Given the description of an element on the screen output the (x, y) to click on. 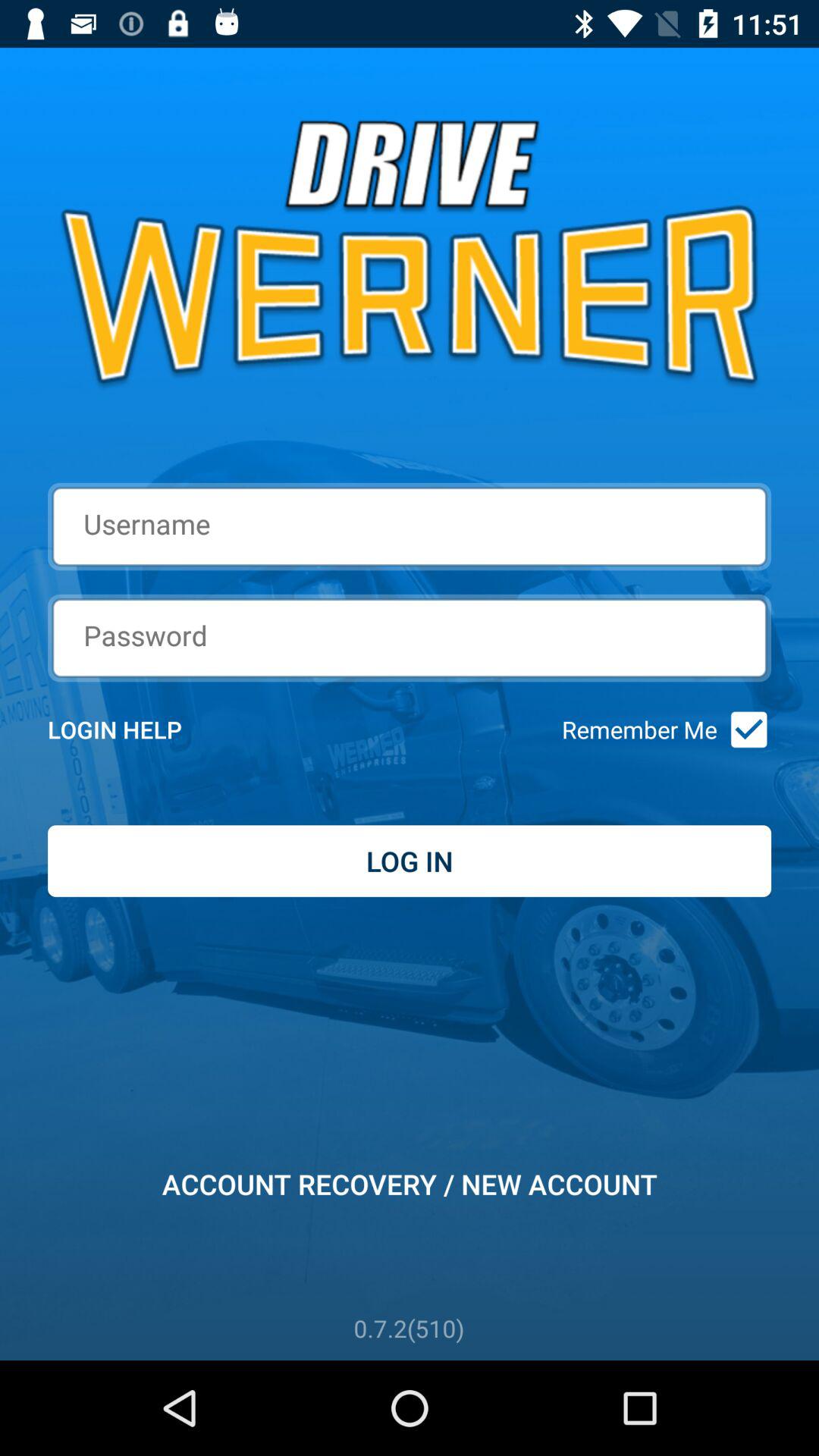
open item on the left (134, 729)
